Given the description of an element on the screen output the (x, y) to click on. 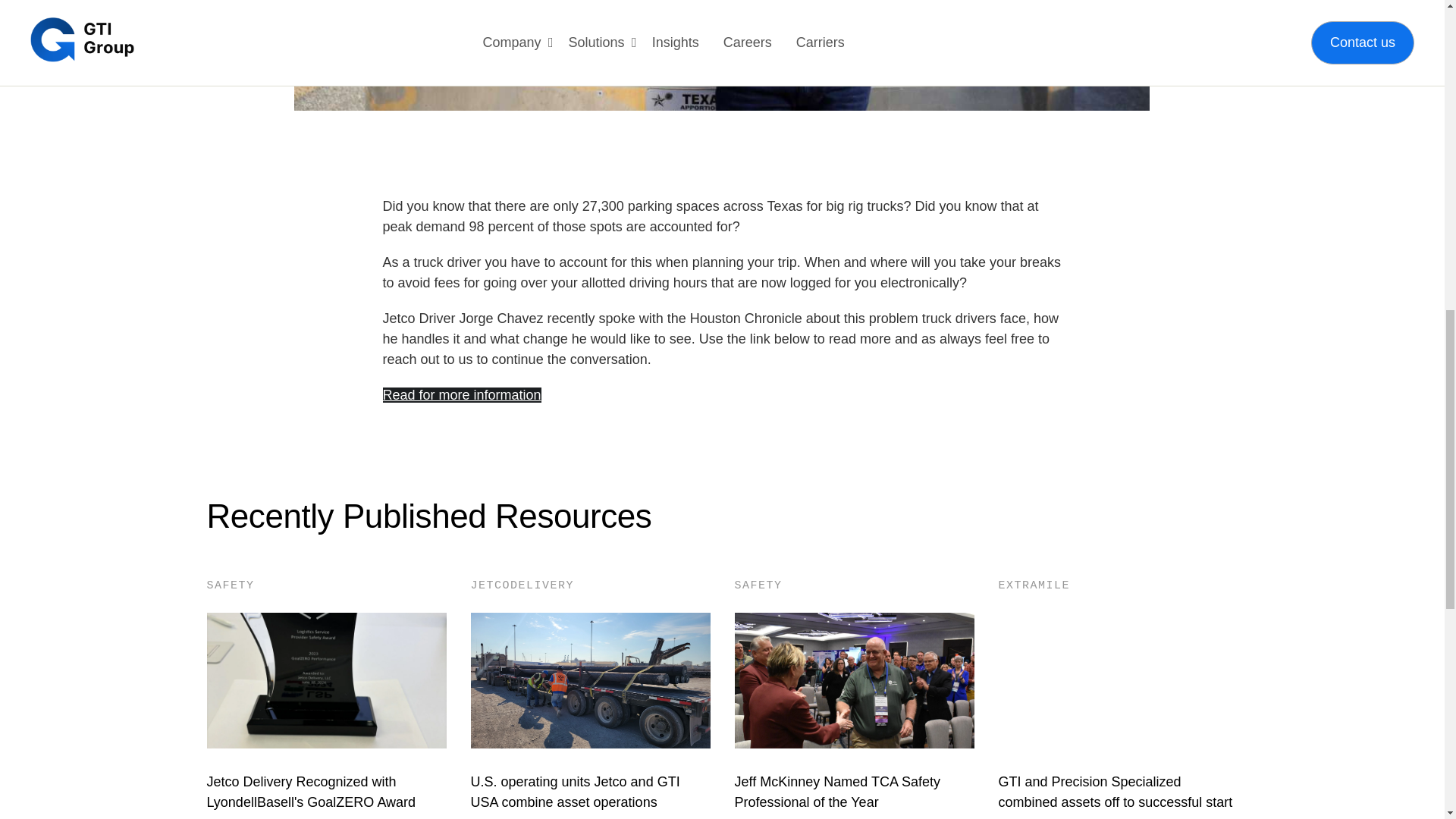
Read for more information (460, 394)
